Given the description of an element on the screen output the (x, y) to click on. 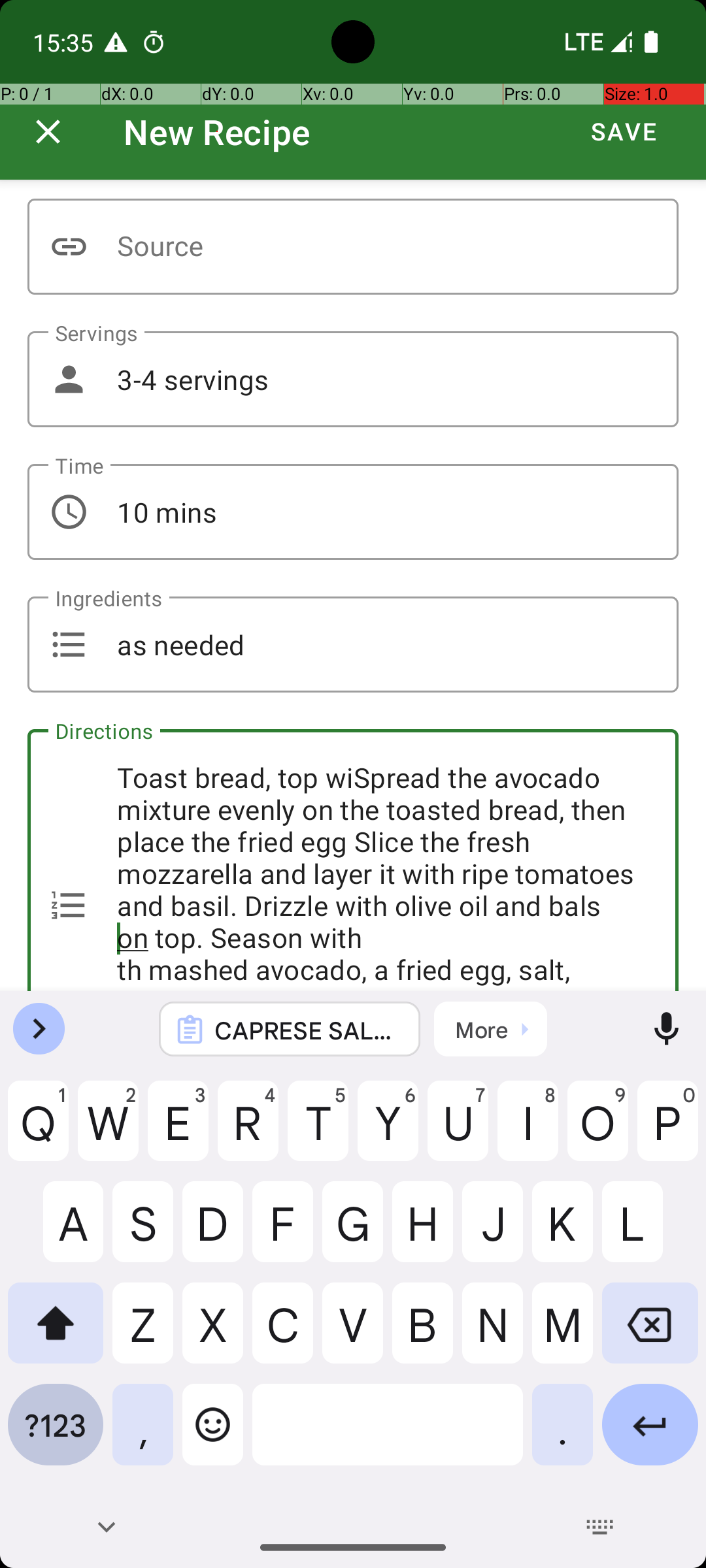
10 mins Element type: android.widget.EditText (352, 511)
as needed Element type: android.widget.EditText (352, 644)
Toast bread, top wiSpread the avocado mixture evenly on the toasted bread, then place the fried egg Slice the fresh mozzarella and layer it with ripe tomatoes and basil. Drizzle with olive oil and bals
on top. Season with
th mashed avocado, a fried egg, salt, pepper, and chili flakes. Try adding a pinch of your favorite spices for extra flavor. Element type: android.widget.EditText (352, 860)
CAPRESE SALAD SKEWERS  Servings: 1 serving Time: 45 mins  A quick and easy meal, perfect for busy weekdays.  Ingredients: - n/a  Directions: 1. Thread cherry tomatoes, basil leaves, and mozzarella balls onto skewers. Drizzle with balsamic glaze. Feel free to substitute with ingredients you have on hand.  Shared with https://play.google.com/store/apps/details?id=com.flauschcode.broccoli Element type: android.widget.TextView (306, 1029)
